Given the description of an element on the screen output the (x, y) to click on. 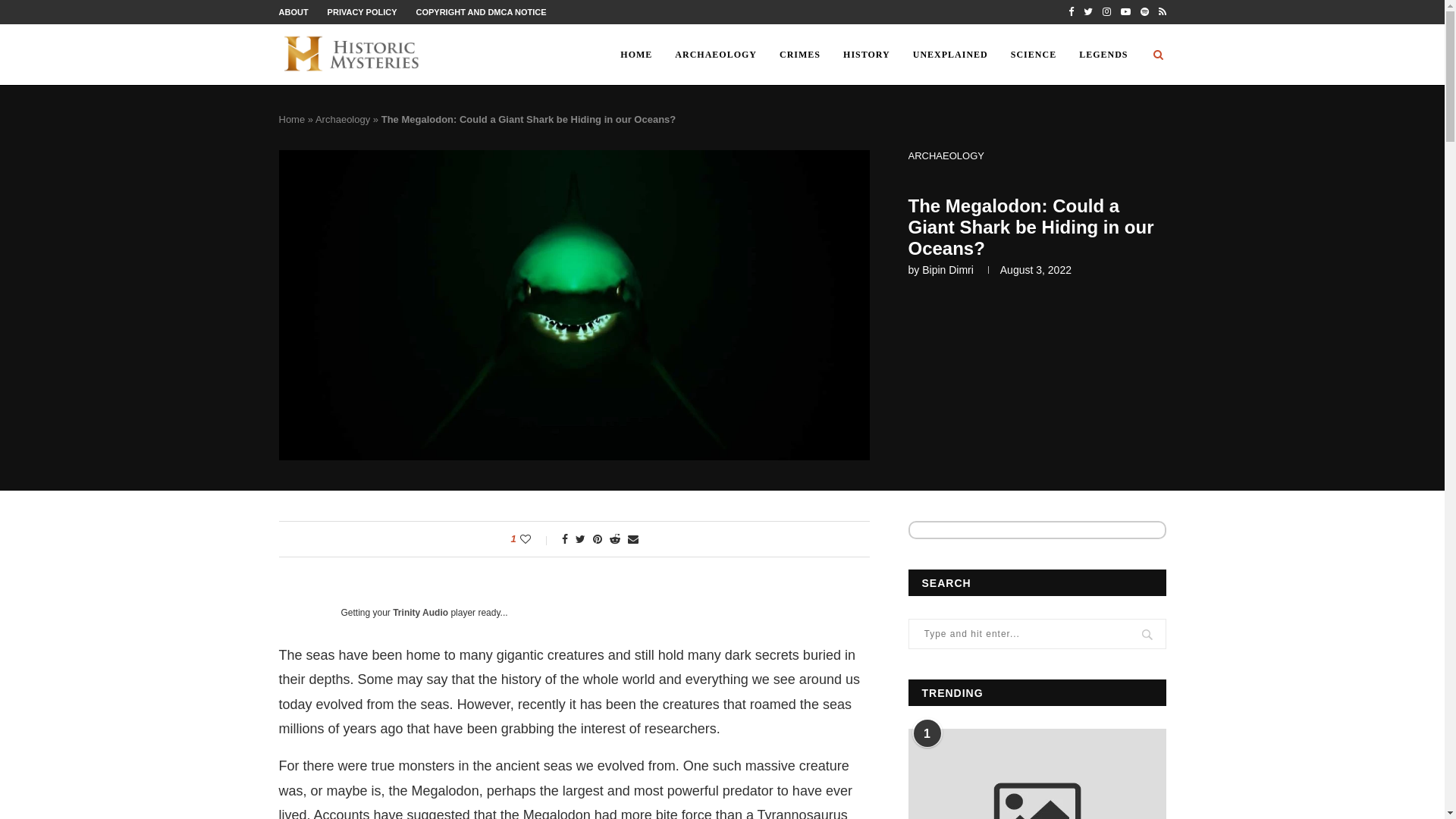
CRIMES (799, 54)
Bipin Dimri (947, 269)
COPYRIGHT AND DMCA NOTICE (480, 11)
LEGENDS (1102, 54)
HISTORY (866, 54)
PRIVACY POLICY (362, 11)
UNEXPLAINED (949, 54)
Like (535, 539)
ARCHAEOLOGY (946, 155)
SCIENCE (1032, 54)
Home (292, 119)
ARCHAEOLOGY (715, 54)
ABOUT (293, 11)
Archaeology (342, 119)
HOME (635, 54)
